Given the description of an element on the screen output the (x, y) to click on. 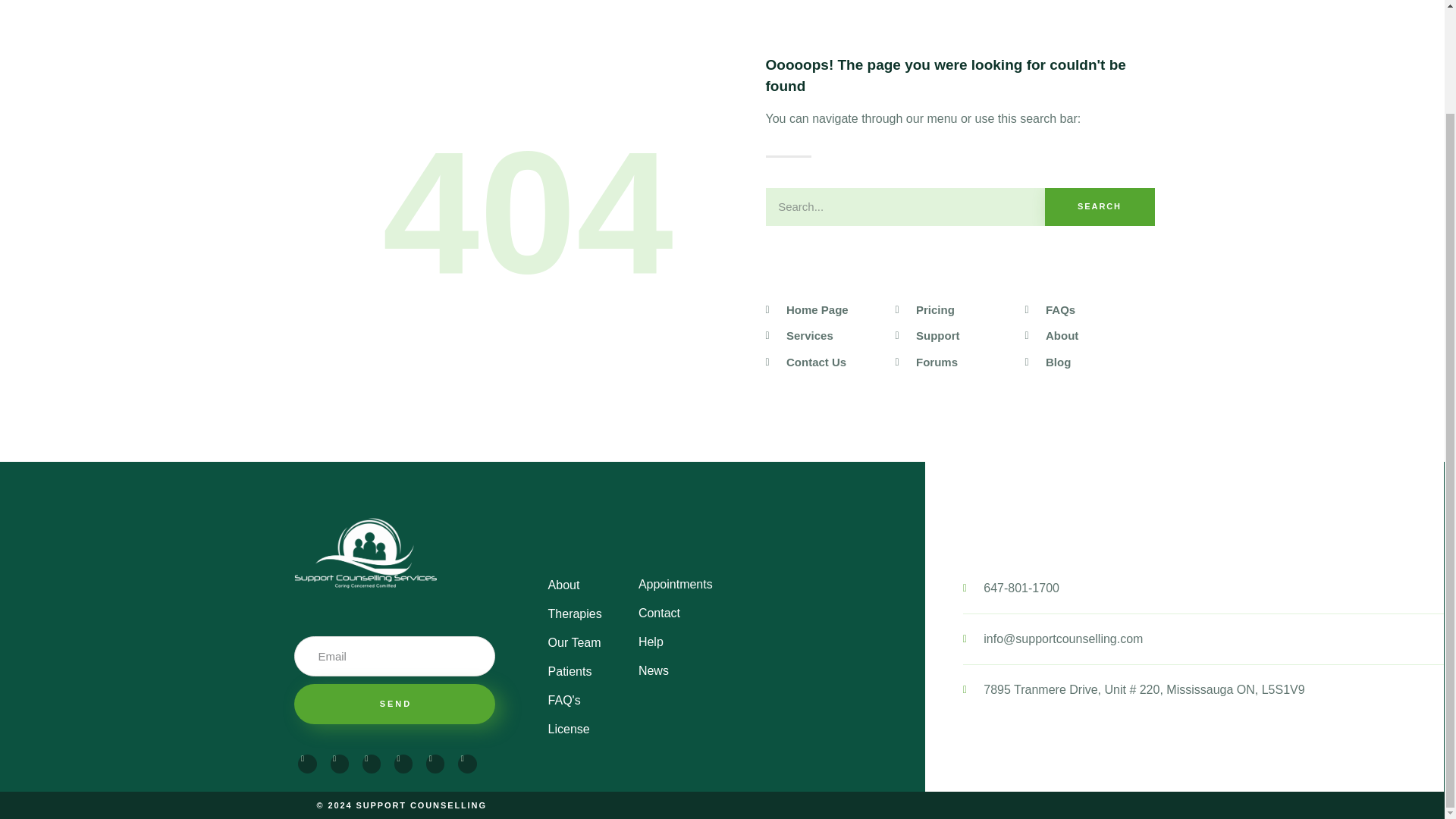
SEARCH (1099, 207)
Search (905, 207)
Search (1099, 207)
SEND (394, 703)
